Given the description of an element on the screen output the (x, y) to click on. 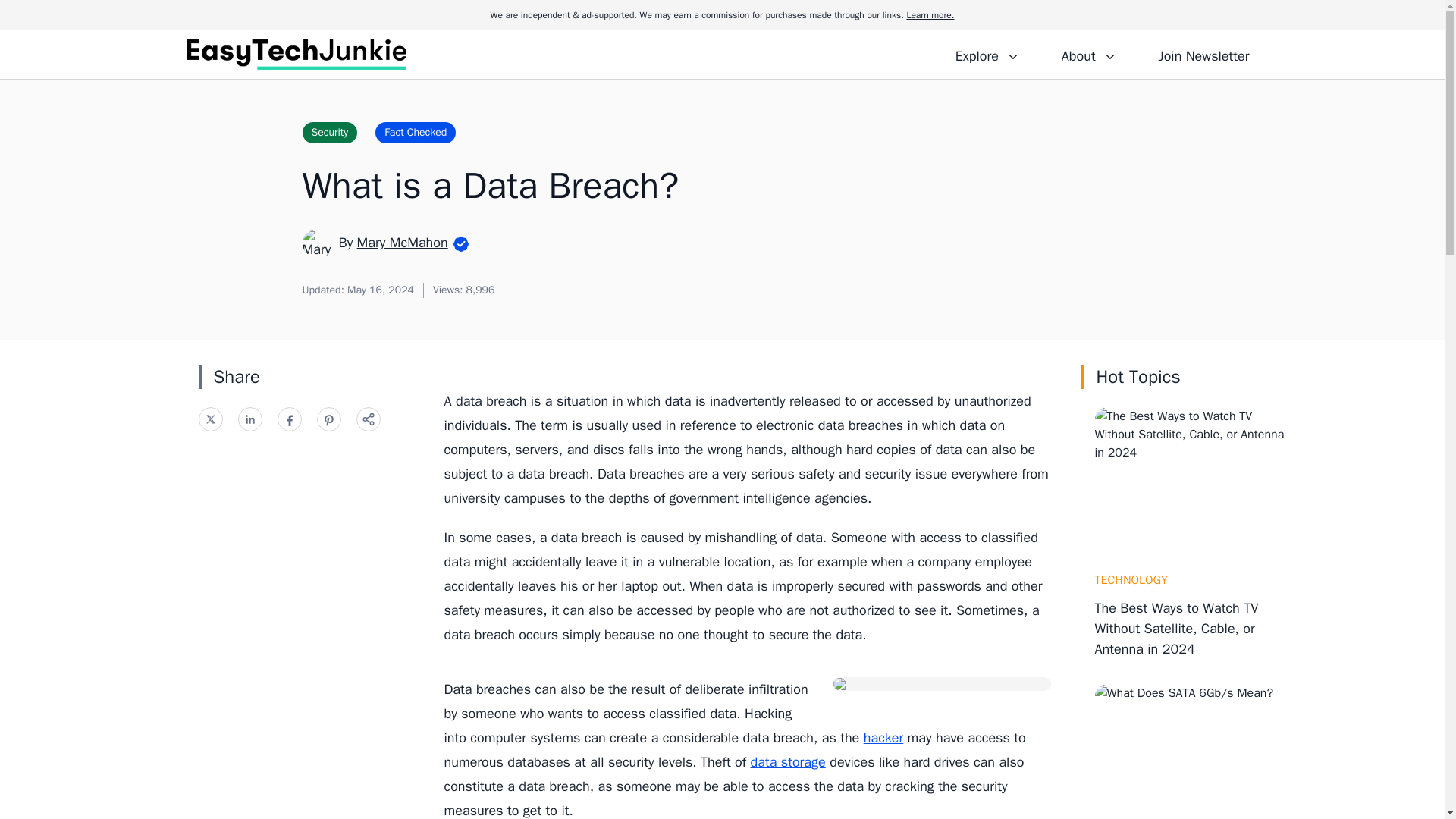
About (1088, 54)
Mary McMahon (402, 242)
Fact Checked (415, 132)
Security (328, 132)
Explore (986, 54)
Join Newsletter (1202, 54)
Learn more. (929, 15)
